Given the description of an element on the screen output the (x, y) to click on. 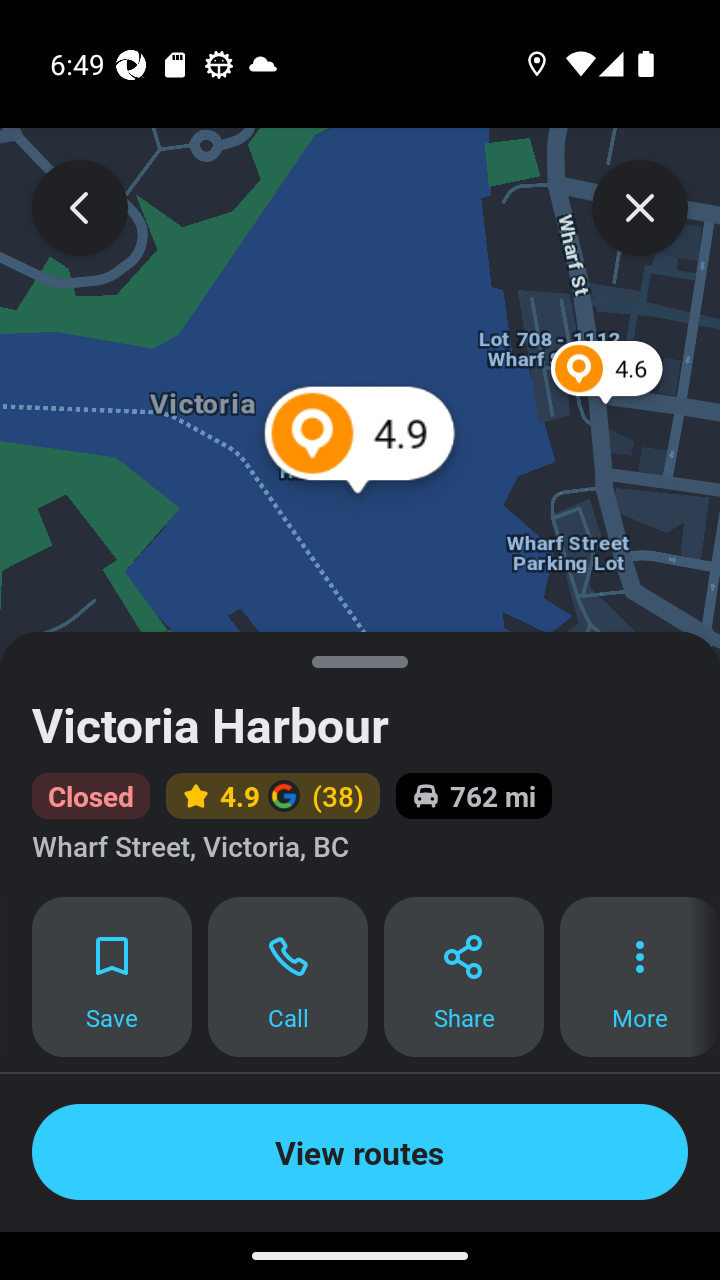
Save (111, 977)
Call (287, 977)
Share (463, 977)
More (640, 977)
View routes (359, 1151)
Victoria Clipper Parking 4 min (359, 1233)
